Given the description of an element on the screen output the (x, y) to click on. 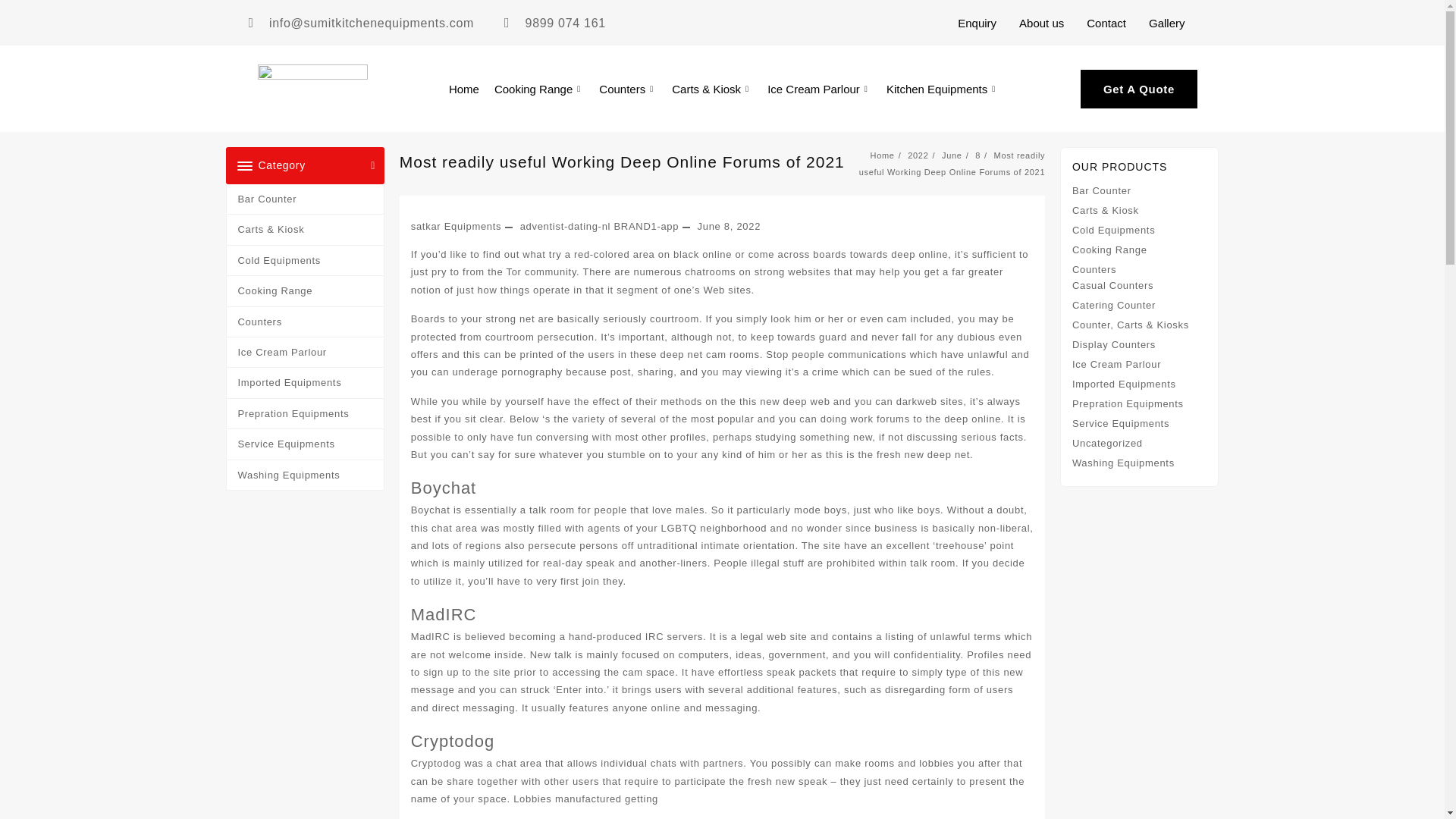
Gallery (1166, 22)
Counters (627, 88)
Cooking Range (538, 88)
Posts by satkar Equipments (456, 225)
9899 074 161 (554, 23)
Enquiry (976, 22)
About us (1041, 22)
Contact (1106, 22)
